Given the description of an element on the screen output the (x, y) to click on. 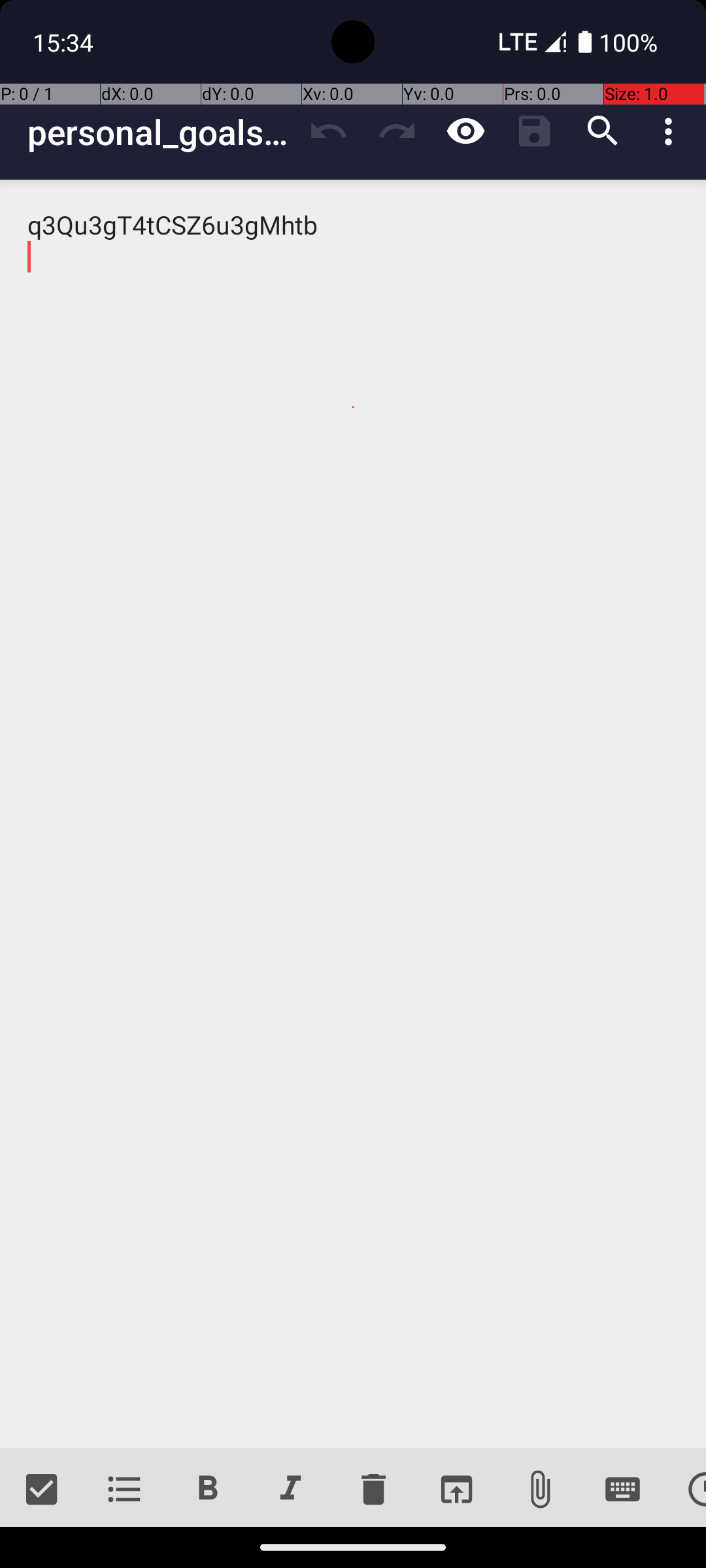
personal_goals_2024_edited Element type: android.widget.TextView (160, 131)
q3Qu3gT4tCSZ6u3gMhtb
 Element type: android.widget.EditText (353, 813)
